Given the description of an element on the screen output the (x, y) to click on. 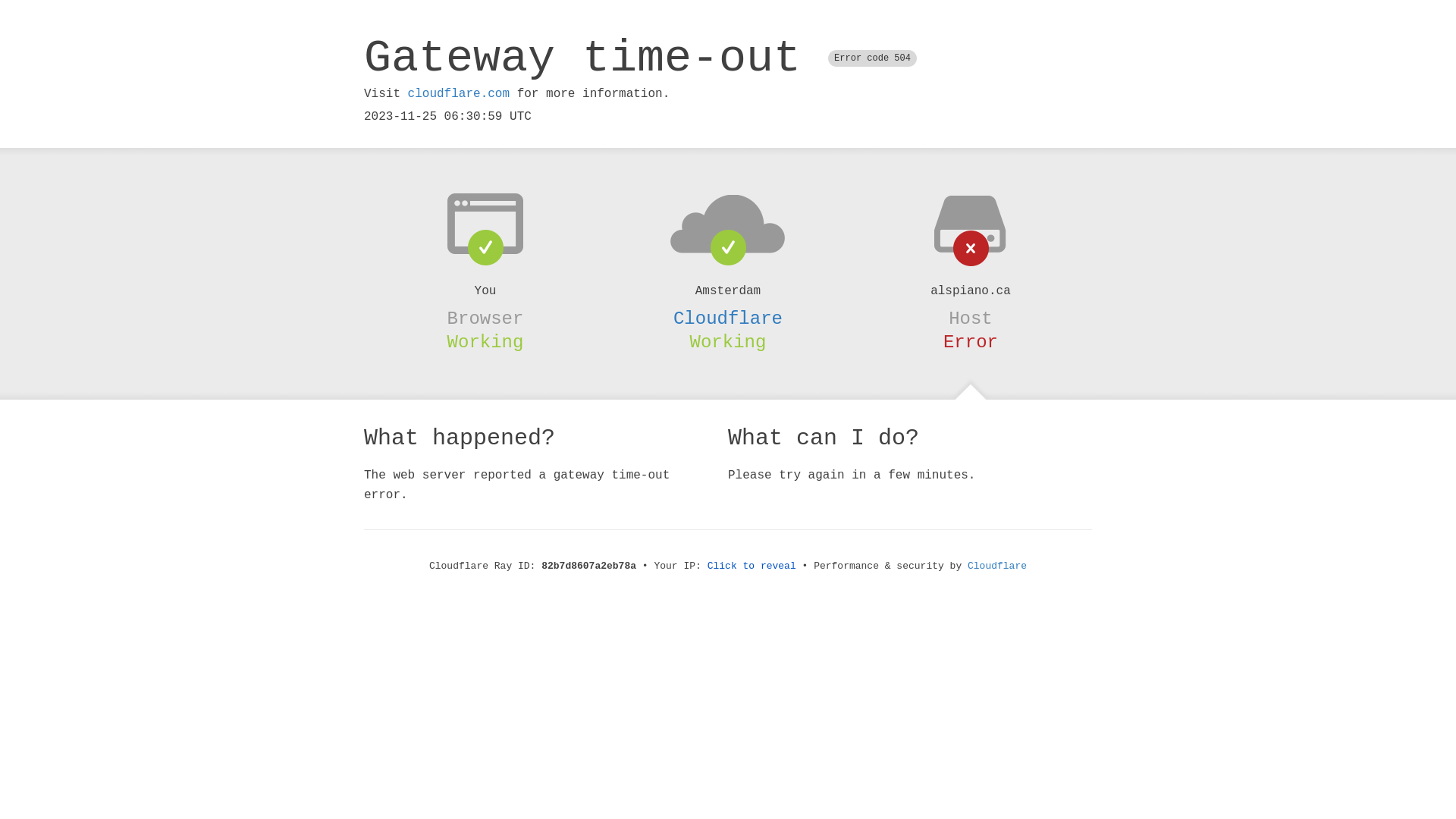
Click to reveal Element type: text (751, 565)
Cloudflare Element type: text (727, 318)
cloudflare.com Element type: text (458, 93)
Cloudflare Element type: text (996, 565)
